Given the description of an element on the screen output the (x, y) to click on. 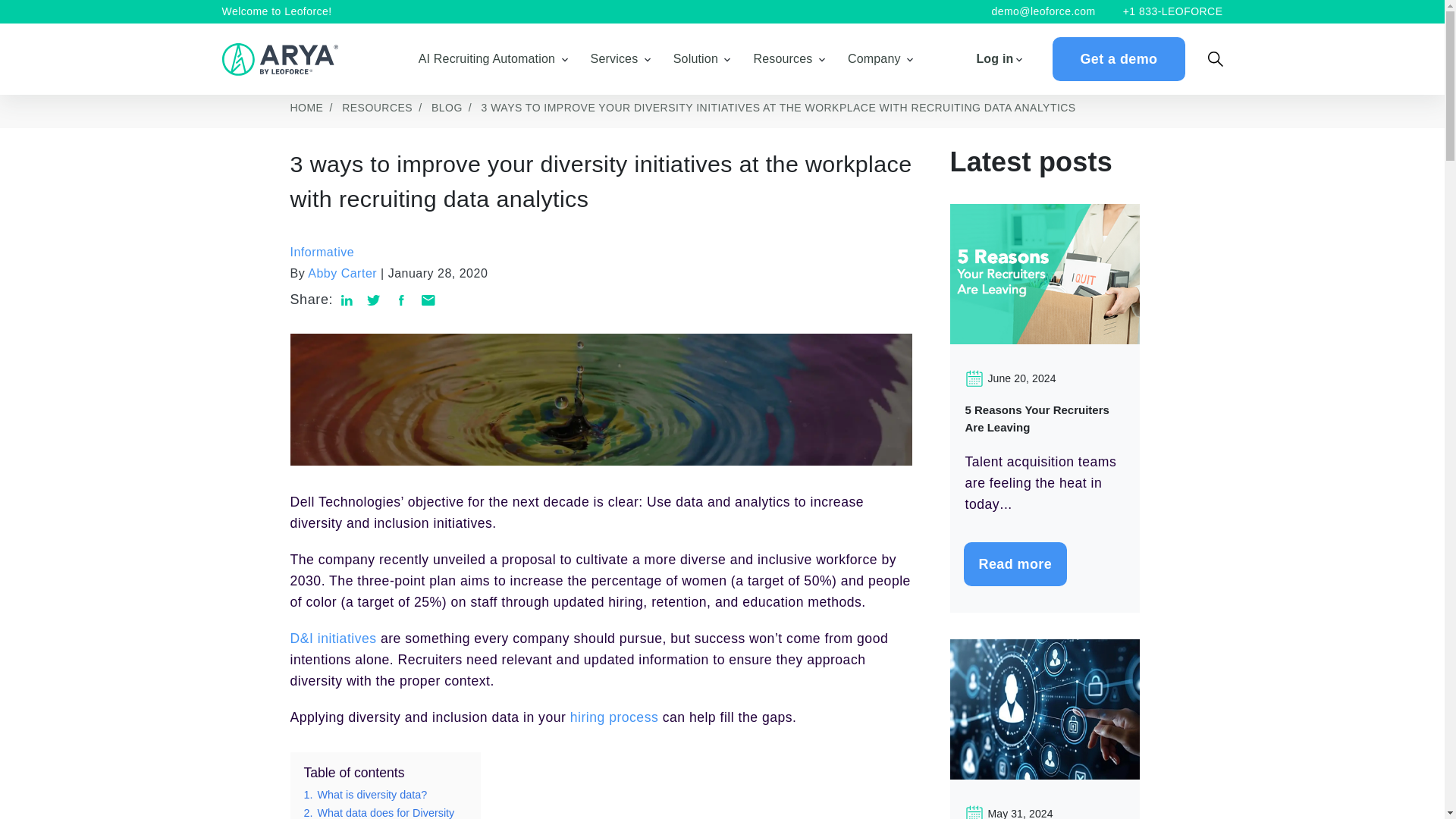
search (1215, 58)
Services (615, 58)
Solution (694, 58)
Resources (782, 58)
Company (874, 58)
AI Recruiting Automation (486, 58)
Leoforce (282, 58)
